Given the description of an element on the screen output the (x, y) to click on. 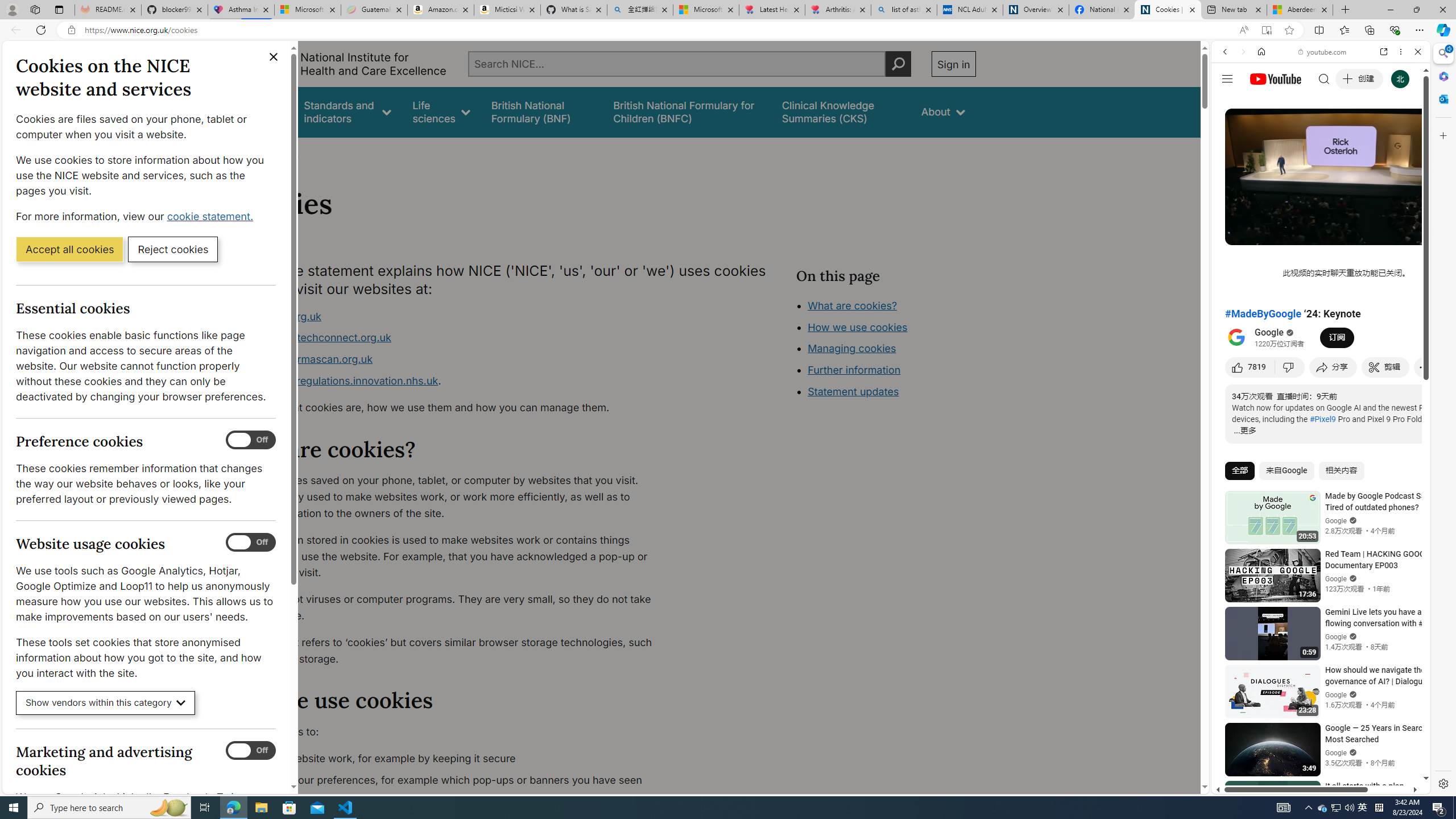
Search Filter, Search Tools (1350, 129)
Further information (854, 369)
Guidance (260, 111)
Class: dict_pnIcon rms_img (1312, 784)
Show vendors within this category (105, 703)
www.digitalregulations.innovation.nhs.uk. (452, 380)
NCL Adult Asthma Inhaler Choice Guideline (969, 9)
Actions for this site (1371, 661)
